Given the description of an element on the screen output the (x, y) to click on. 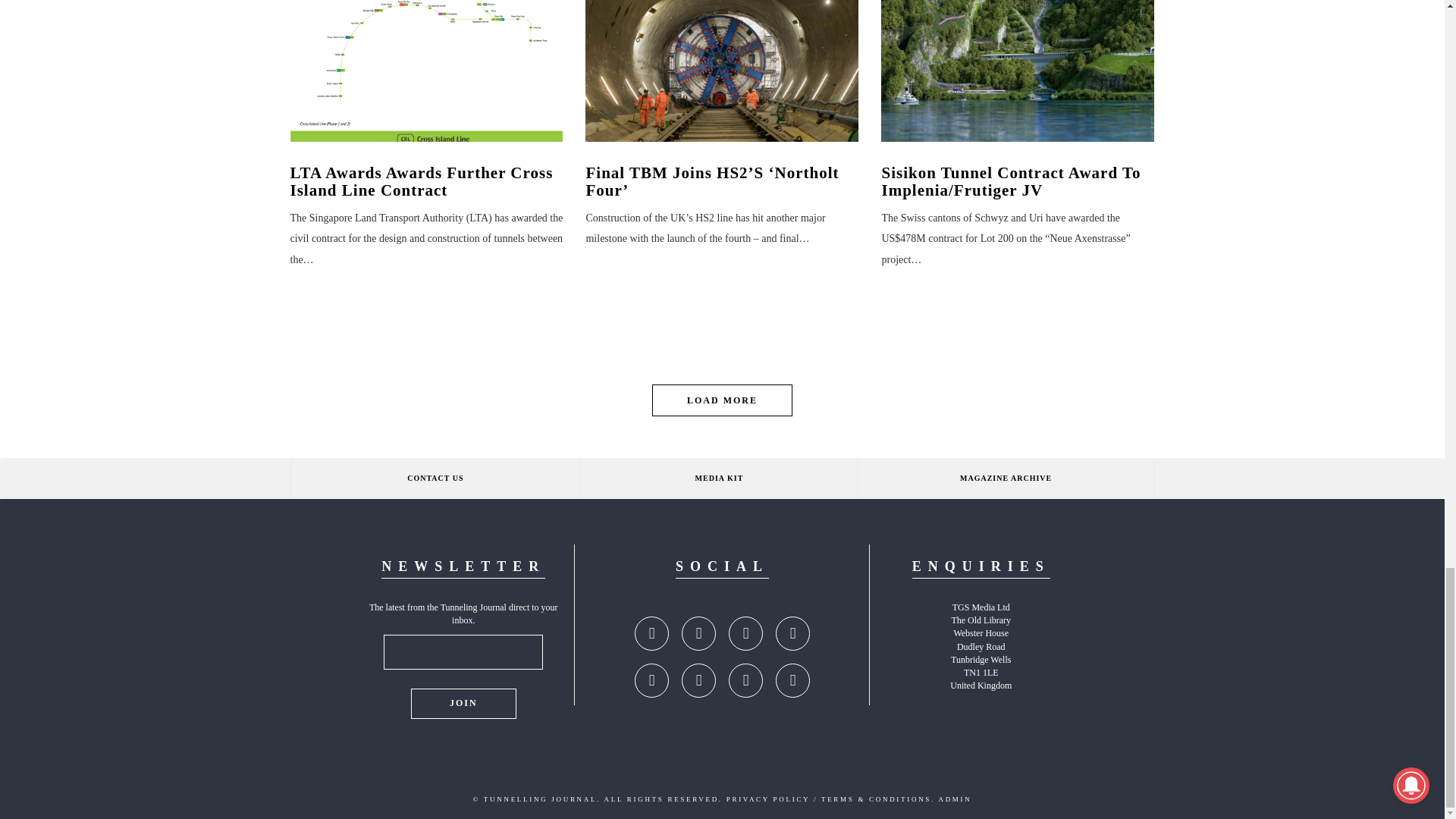
Join (463, 703)
LTA Awards awards further Cross Island Line contract (425, 70)
LTA Awards Awards Further Cross Island Line Contract (425, 181)
